Given the description of an element on the screen output the (x, y) to click on. 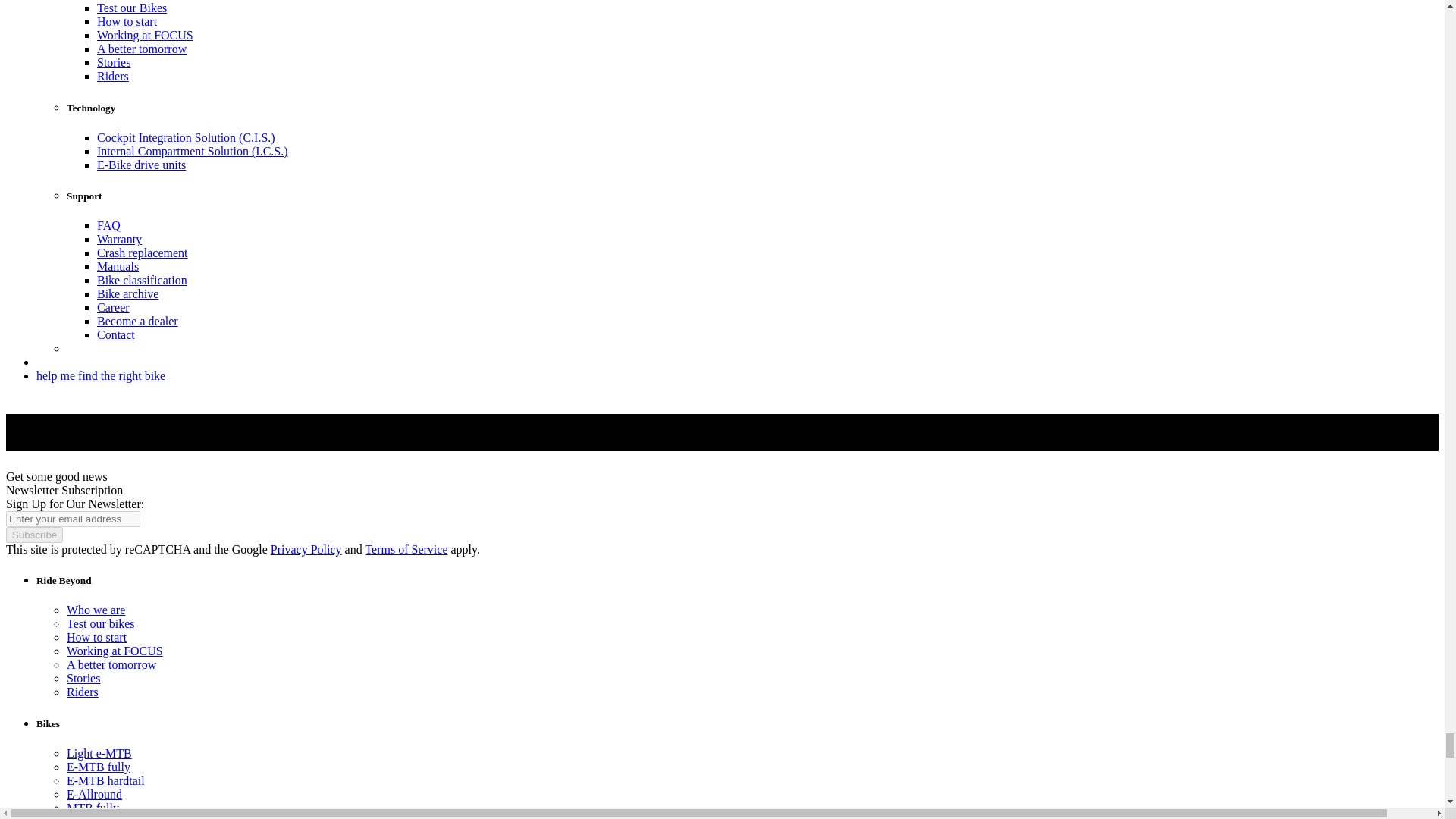
Subscribe (33, 534)
